Given the description of an element on the screen output the (x, y) to click on. 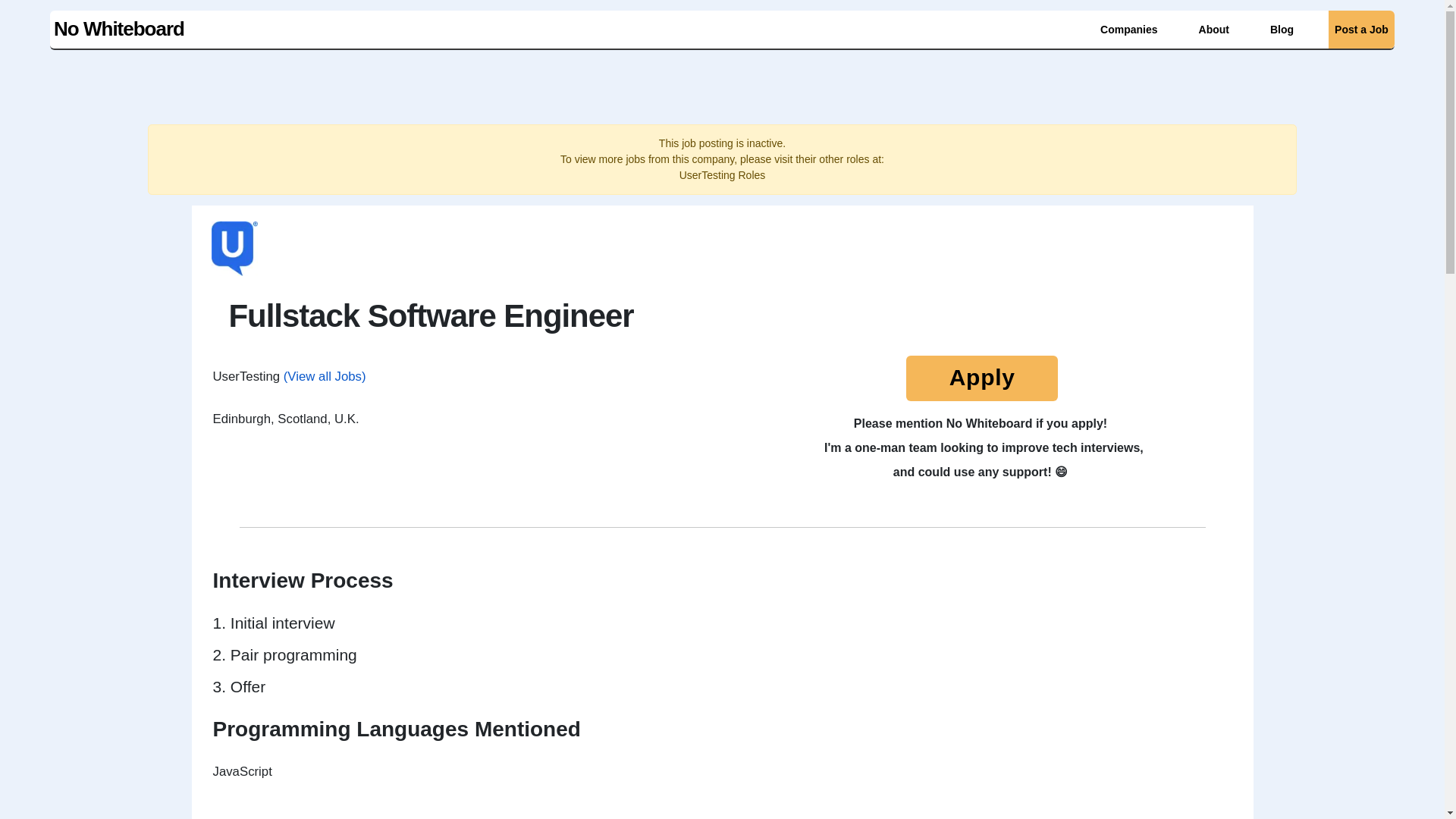
About (1209, 28)
Companies (1128, 29)
Blog (1278, 28)
About (1213, 29)
UserTesting Roles (722, 174)
Post a Job (1357, 28)
Blog (1281, 29)
Post a Job (1360, 29)
Apply (981, 378)
Apply (981, 381)
No Whiteboard (116, 27)
Companies (1124, 28)
